Given the description of an element on the screen output the (x, y) to click on. 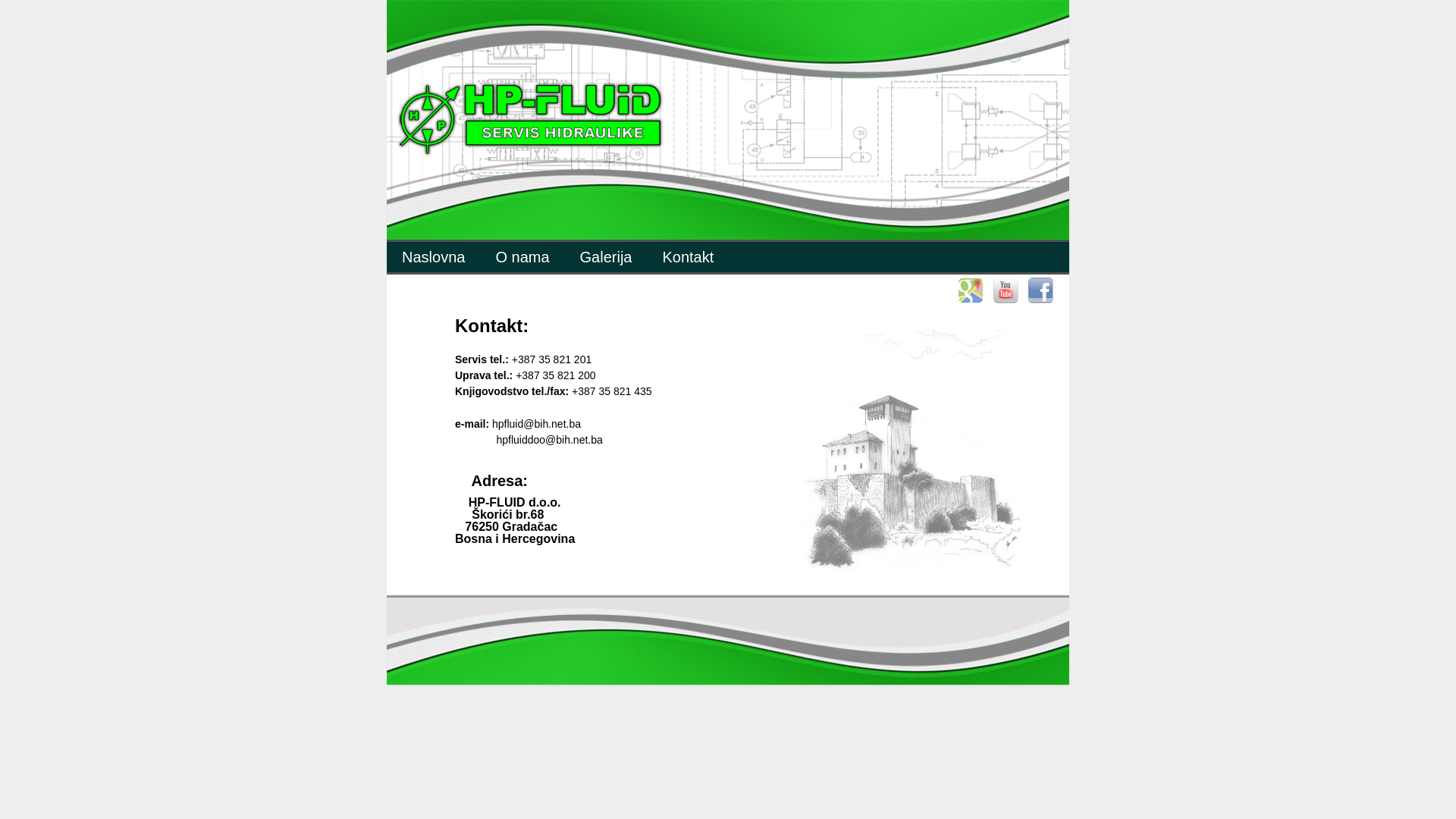
Naslovna Element type: text (433, 256)
Kontakt Element type: text (687, 256)
O nama Element type: text (522, 256)
Galerija Element type: text (605, 256)
